Given the description of an element on the screen output the (x, y) to click on. 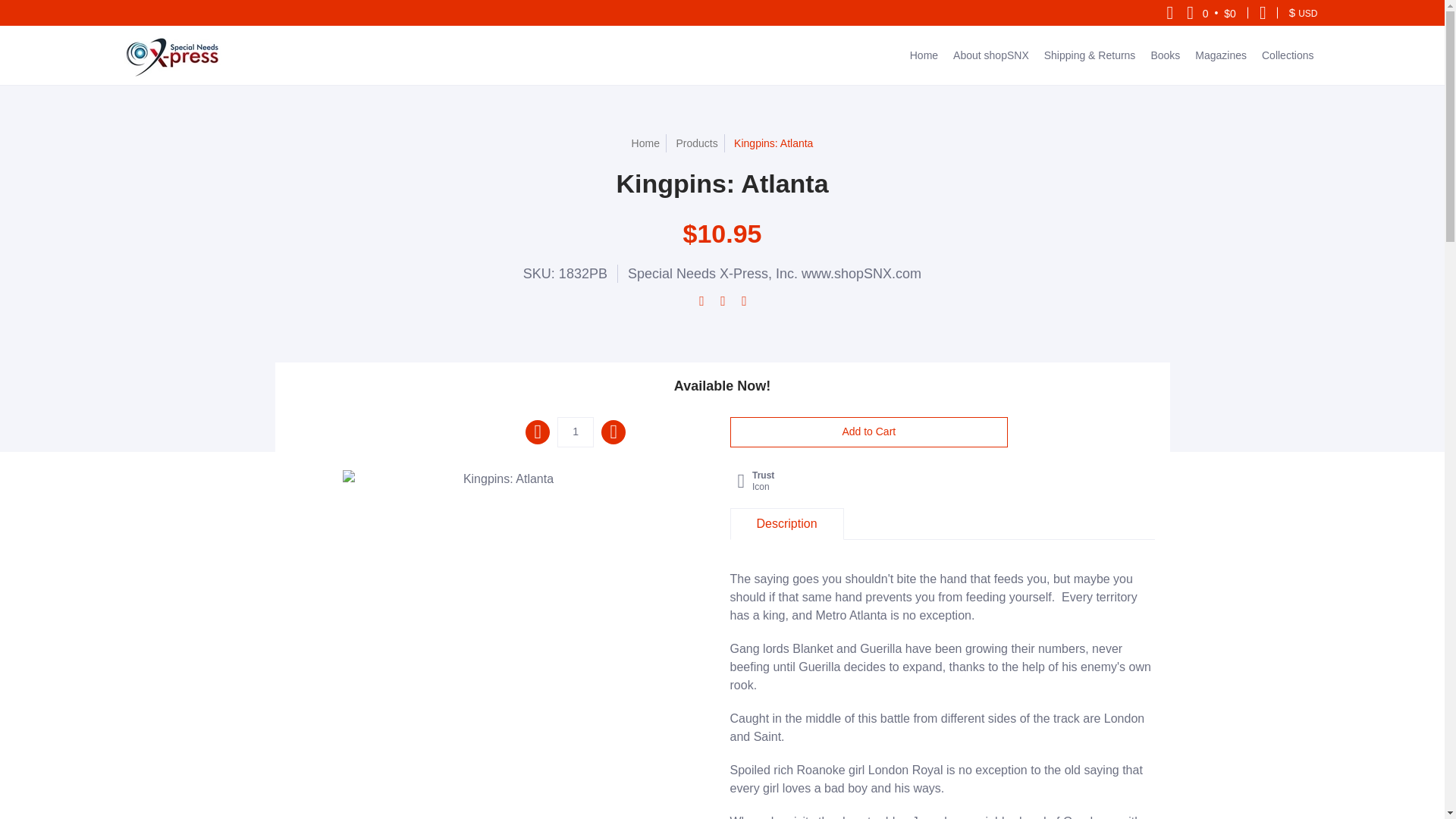
Log in (1262, 12)
Cart (1210, 12)
Add to Cart (868, 431)
1 (575, 431)
Update store currency (1303, 12)
